Given the description of an element on the screen output the (x, y) to click on. 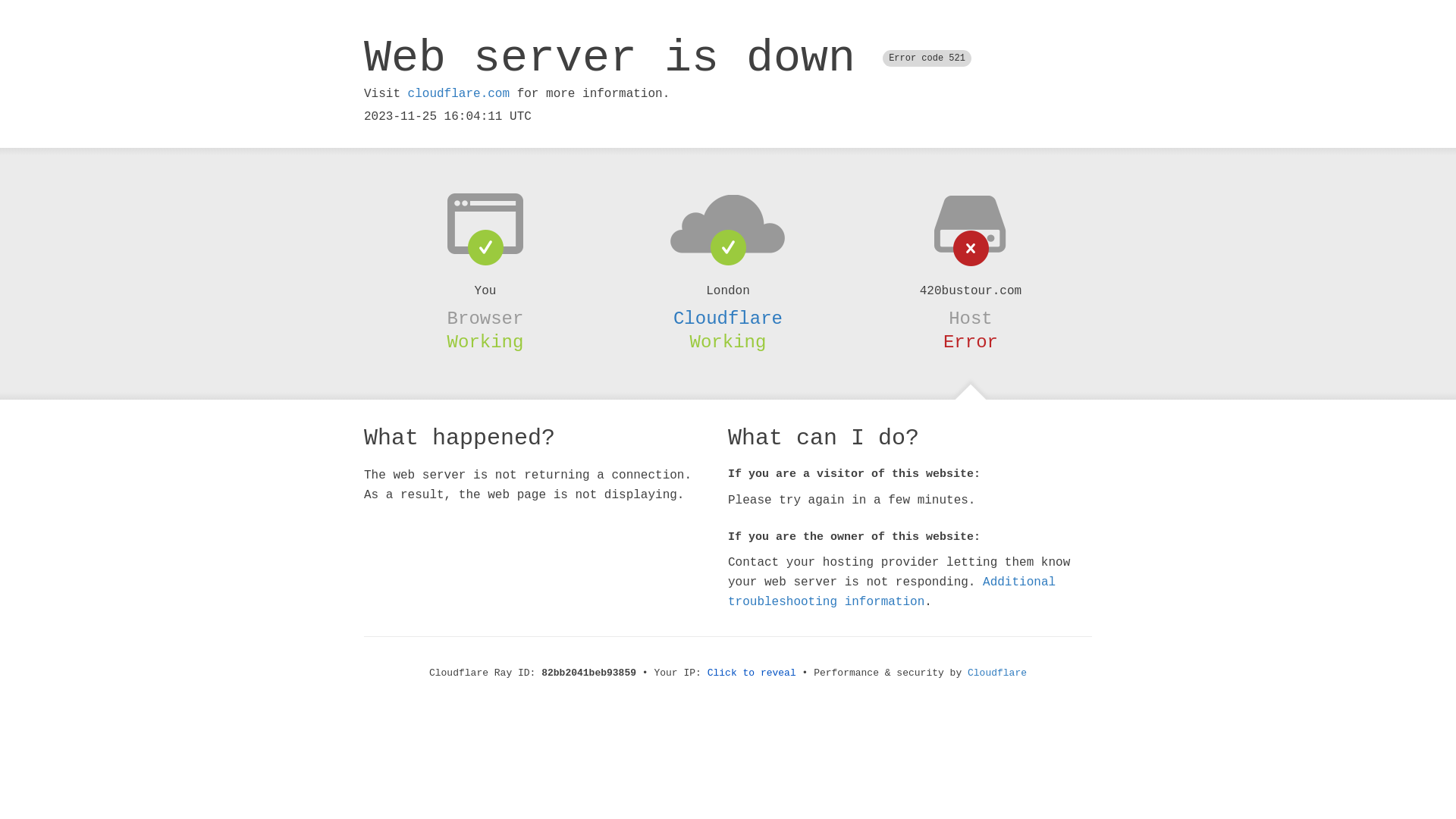
Click to reveal Element type: text (751, 672)
Additional troubleshooting information Element type: text (891, 591)
cloudflare.com Element type: text (458, 93)
Cloudflare Element type: text (996, 672)
Cloudflare Element type: text (727, 318)
